Given the description of an element on the screen output the (x, y) to click on. 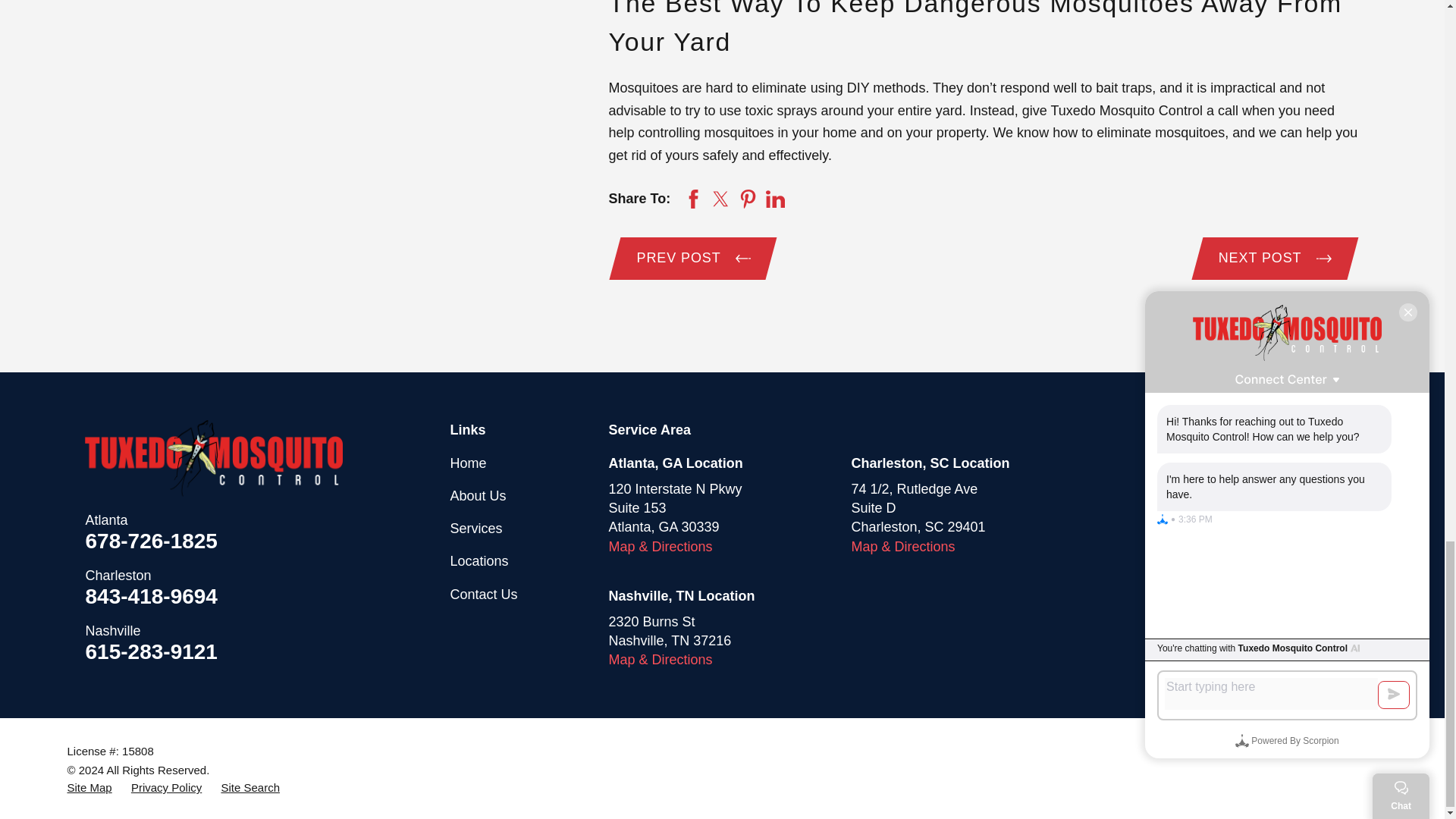
Home (213, 458)
Google Business Profile (1163, 463)
YouTube (1312, 463)
Facebook (1213, 463)
LinkedIn (1262, 463)
